Given the description of an element on the screen output the (x, y) to click on. 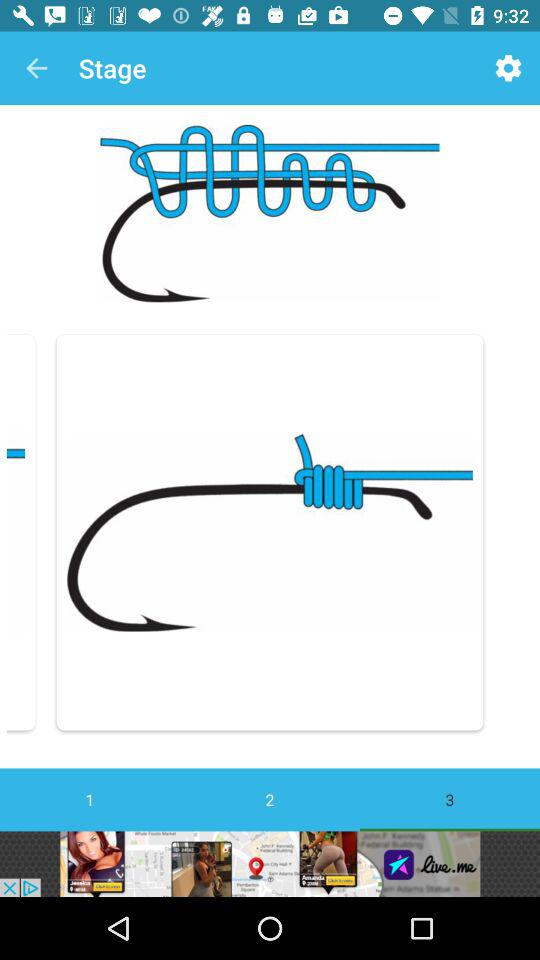
go to advertisement (270, 864)
